Given the description of an element on the screen output the (x, y) to click on. 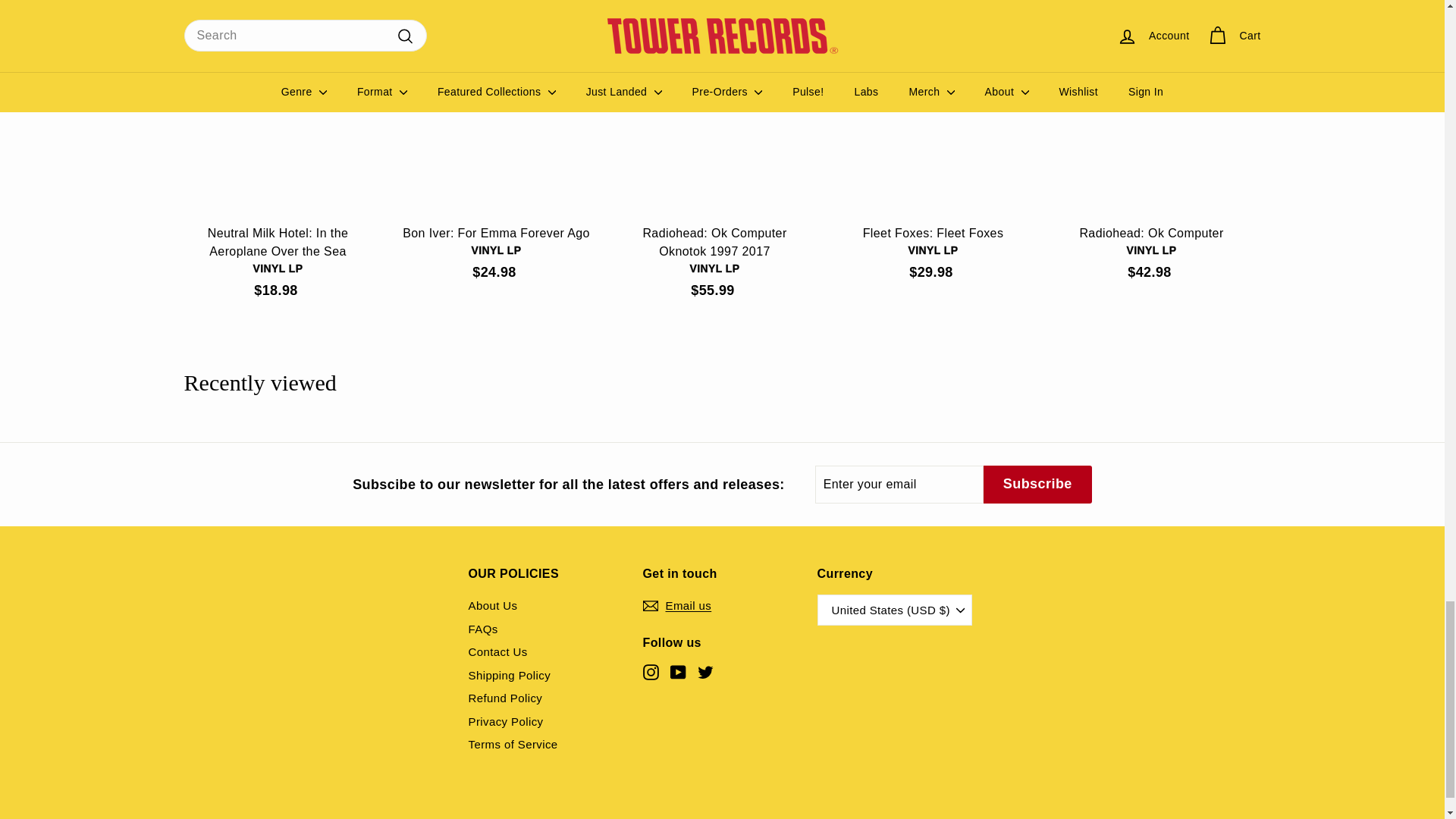
Tower Records on YouTube (677, 671)
Tower Records on Twitter (705, 671)
Tower Records on Instagram (651, 671)
twitter (705, 672)
instagram (651, 672)
